Given the description of an element on the screen output the (x, y) to click on. 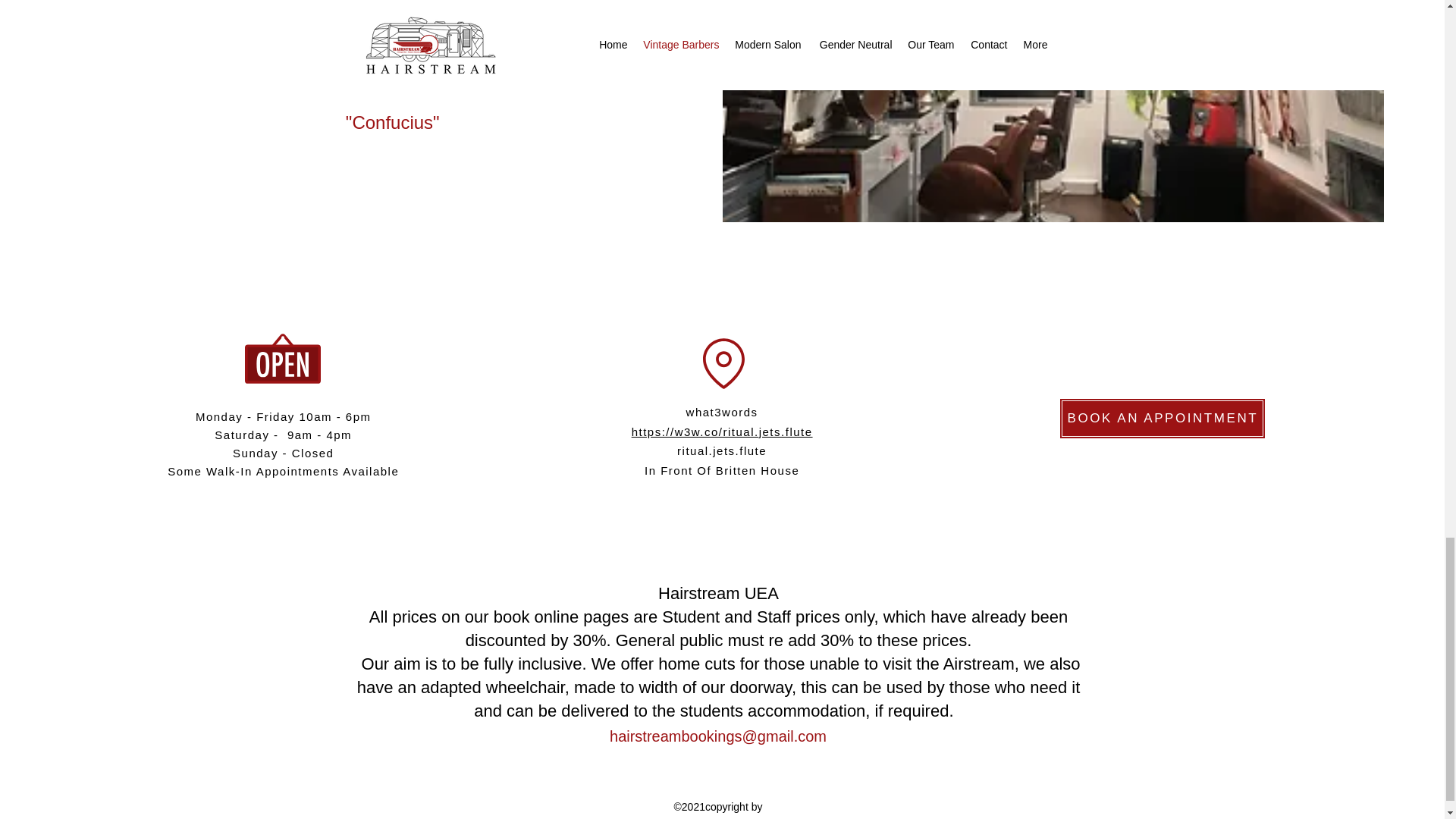
BOOK AN APPOINTMENT (1162, 418)
